Given the description of an element on the screen output the (x, y) to click on. 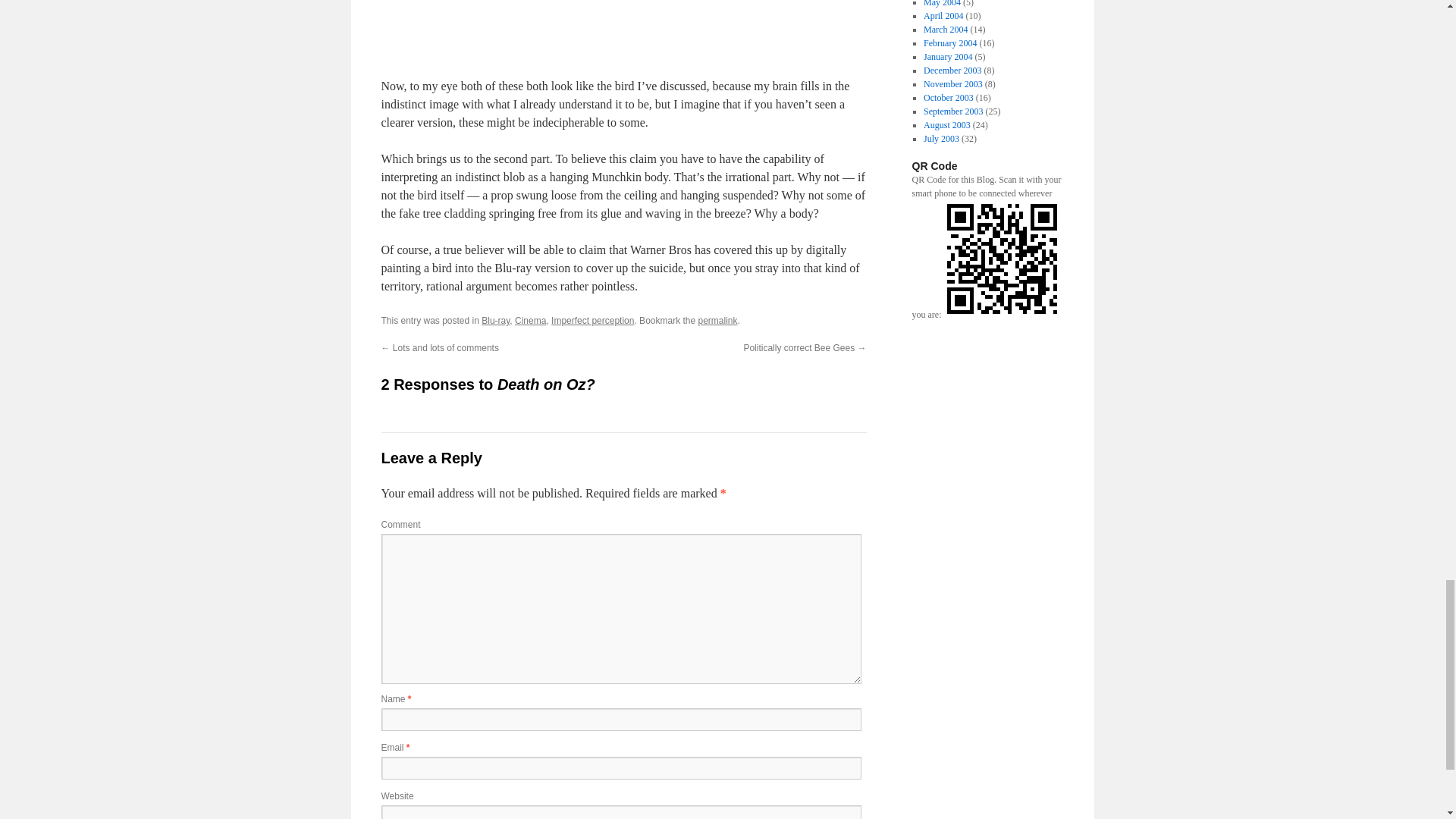
Imperfect perception (592, 320)
Permalink to Death on Oz? (716, 320)
Blu-ray (495, 320)
Cinema (530, 320)
permalink (716, 320)
